Given the description of an element on the screen output the (x, y) to click on. 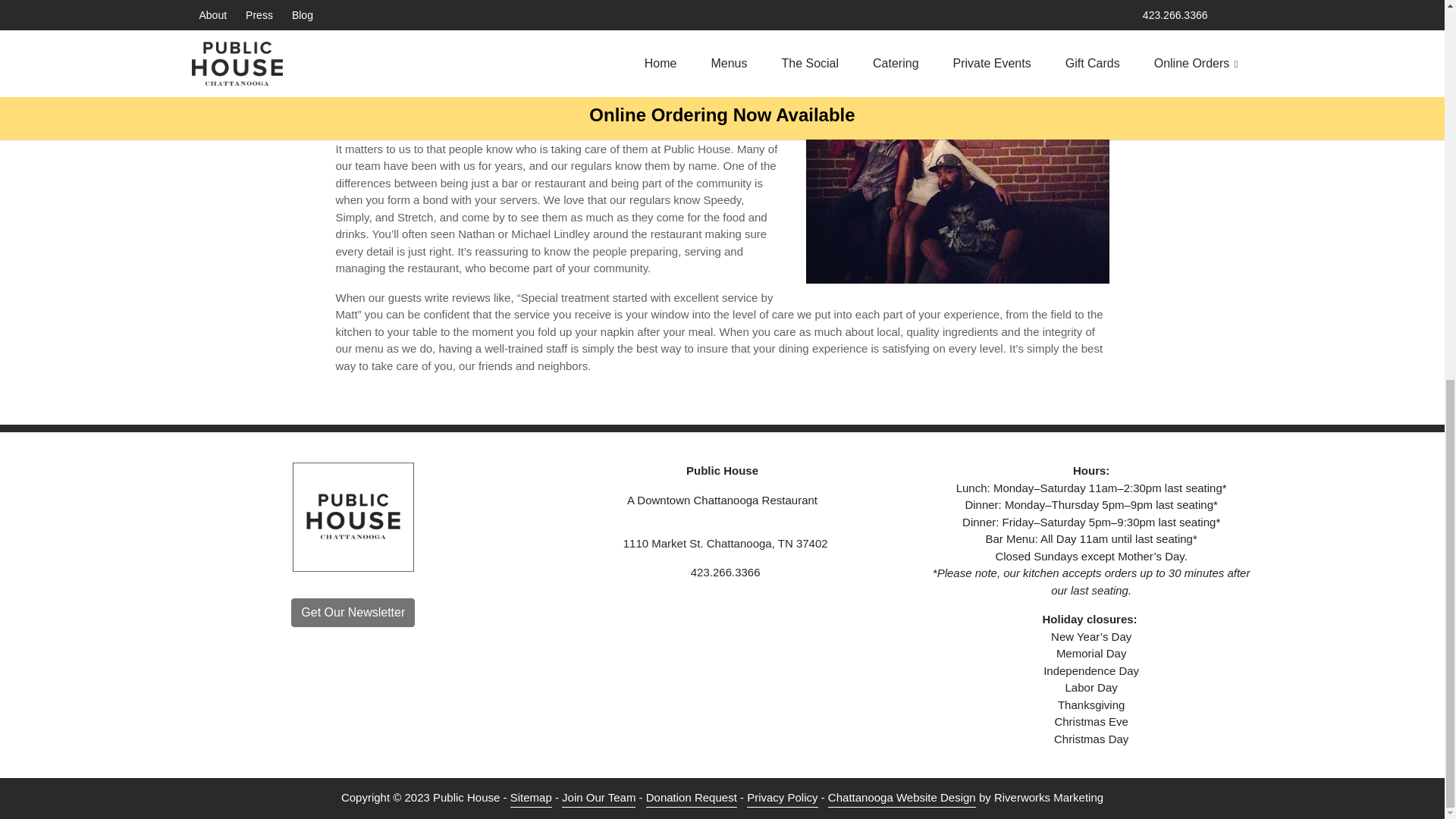
Get Our Newsletter (352, 612)
Sitemap (531, 798)
Donation Request (691, 798)
Join Our Team (598, 798)
  1110 Market St. Chattanooga, TN 37402 (721, 543)
  423.266.3366 (721, 572)
Chattanooga Website Design (901, 798)
Privacy Policy (781, 798)
